Given the description of an element on the screen output the (x, y) to click on. 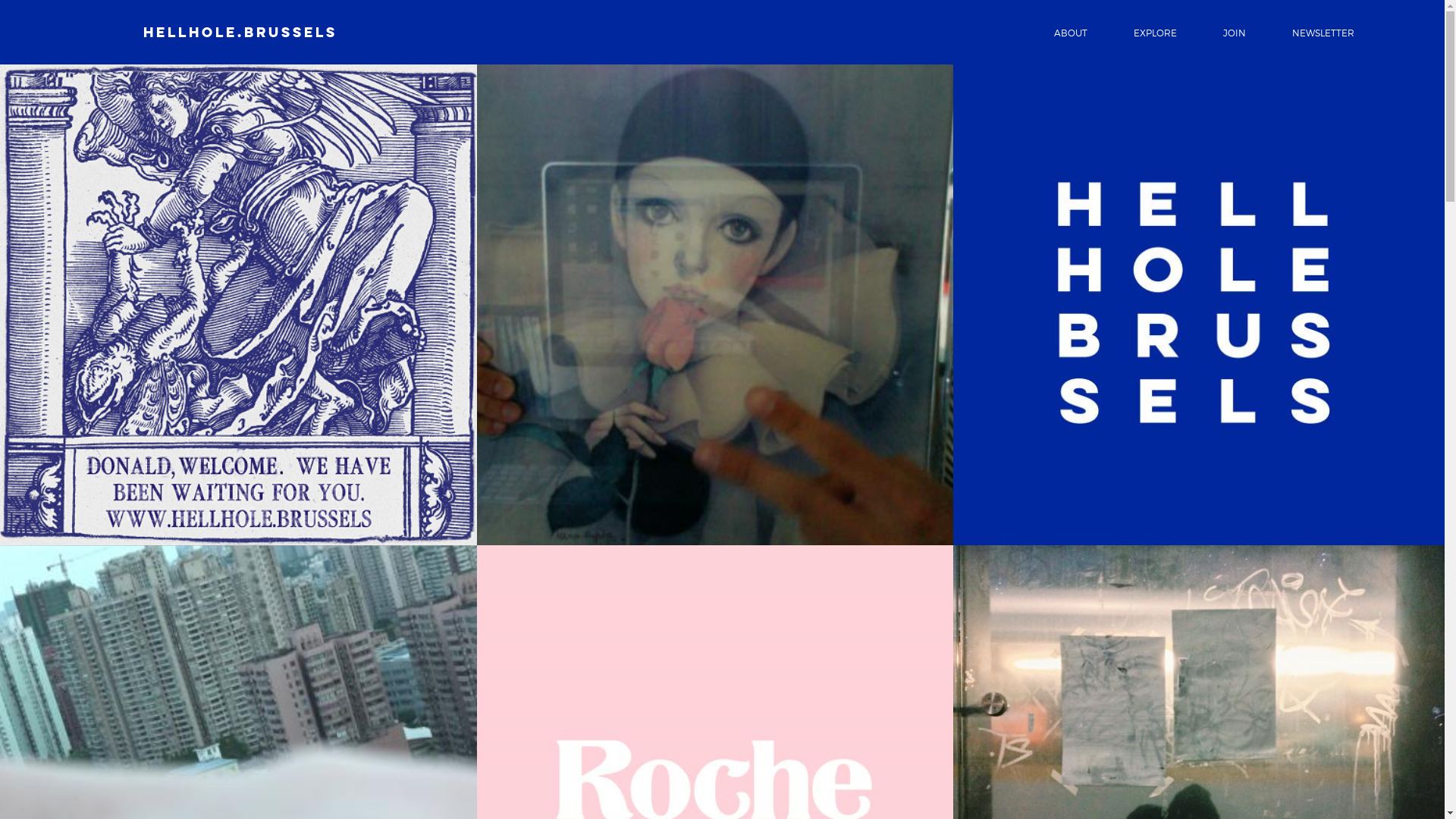
HELLHOLE.BRUSSELS Element type: text (240, 31)
EXPLORE Element type: text (1154, 32)
NEWSLETTER Element type: text (1323, 32)
BRASSERIE DU VIADUC Element type: text (727, 809)
ABOUT Element type: text (1070, 32)
CHEZ GEORGETTE Element type: text (731, 795)
JAMESMETHADEAN.WORDPRESS.COM Element type: text (714, 721)
JOIN Element type: text (1234, 32)
